Given the description of an element on the screen output the (x, y) to click on. 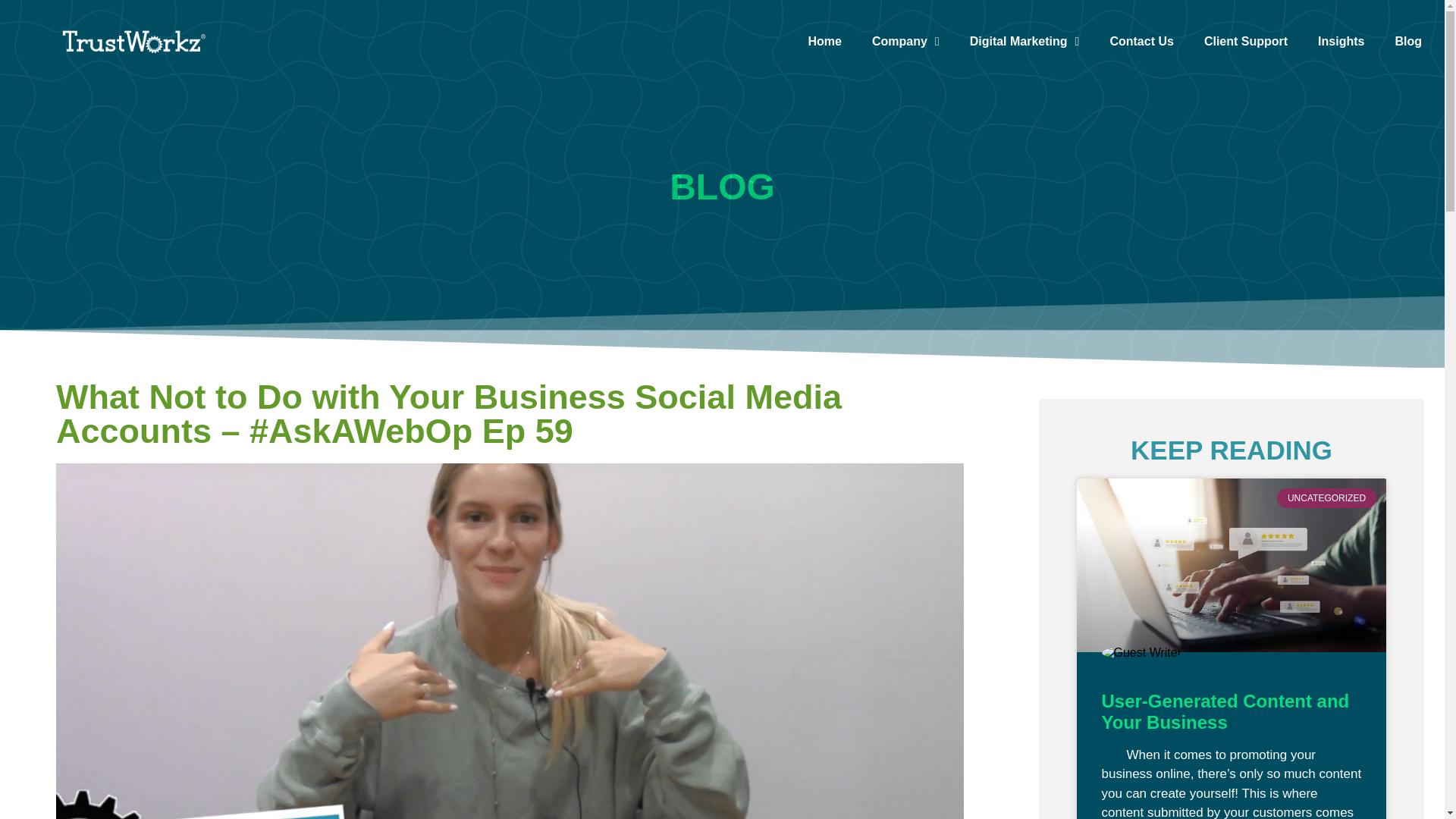
Digital Marketing (1024, 41)
Client Support (1246, 41)
Insights (1340, 41)
Blog (1407, 41)
Contact Us (1141, 41)
Home (824, 41)
Company (906, 41)
